Given the description of an element on the screen output the (x, y) to click on. 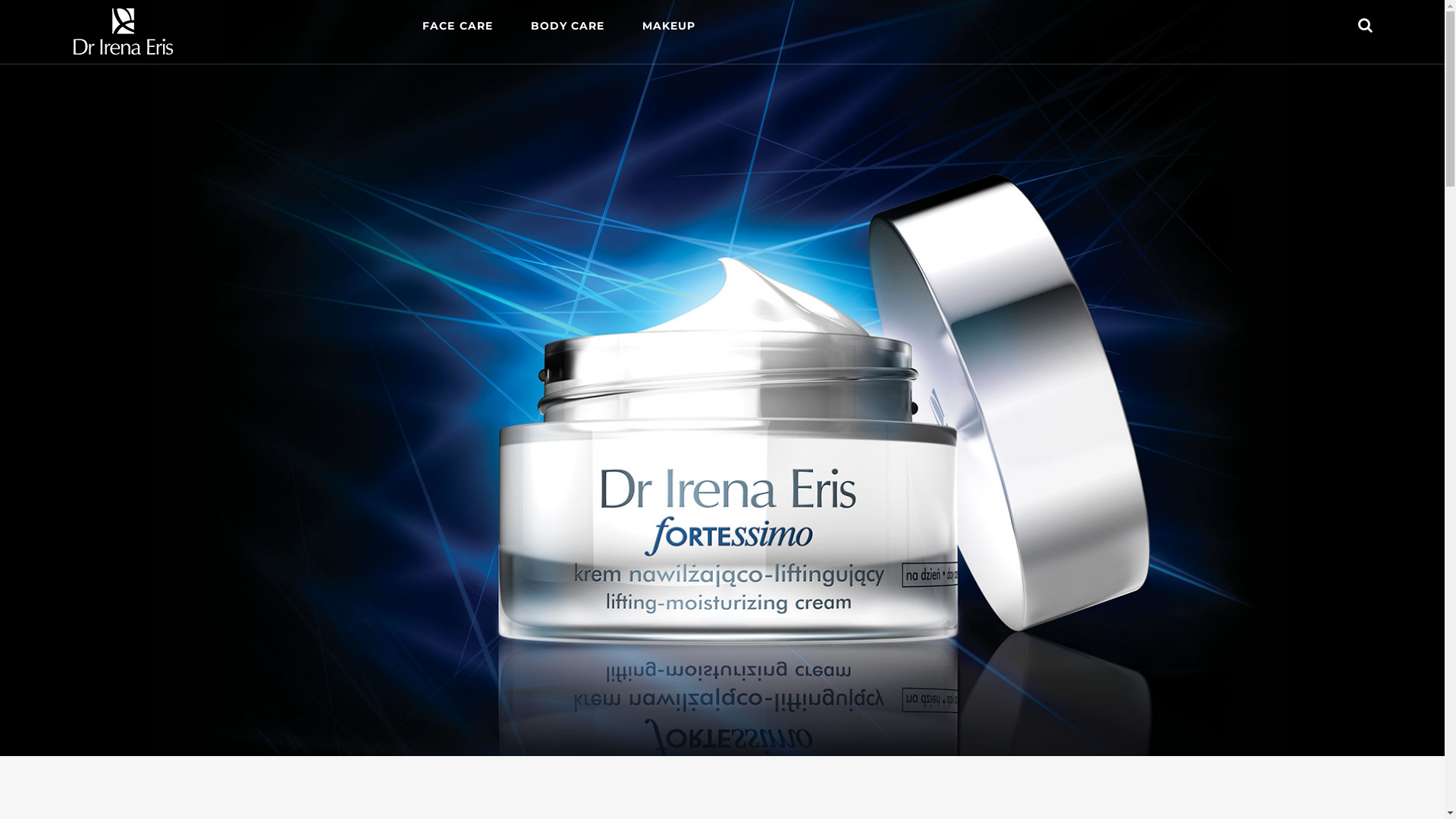
BODY CARE Element type: text (567, 25)
FACE CARE Element type: text (457, 25)
MAKEUP Element type: text (668, 25)
Dr. Irena Eris Element type: hover (123, 31)
Search Element type: hover (1365, 24)
